Given the description of an element on the screen output the (x, y) to click on. 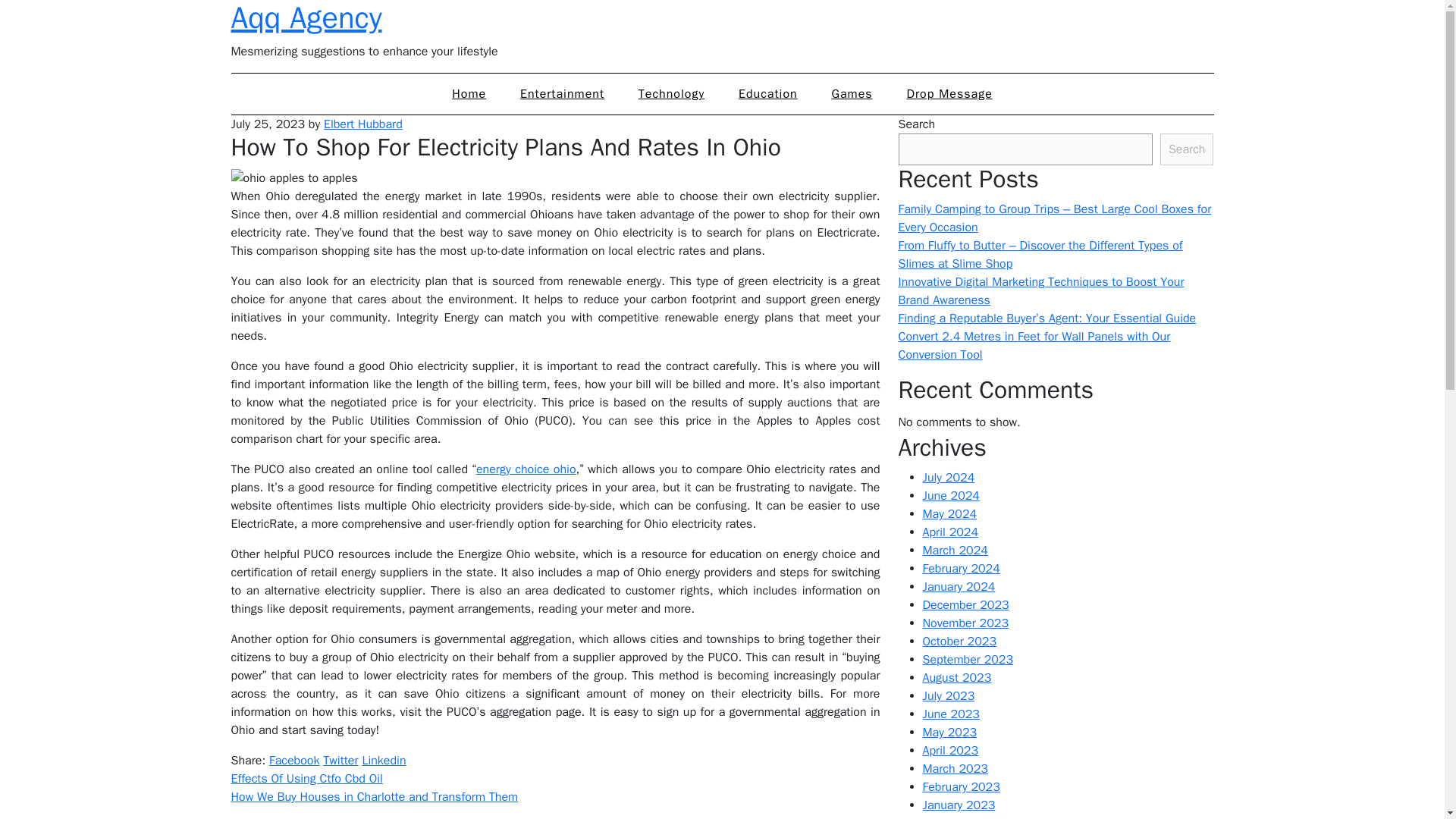
Elbert Hubbard (363, 124)
August 2023 (956, 677)
March 2023 (954, 768)
July 2023 (947, 695)
May 2024 (948, 513)
December 2023 (965, 604)
March 2024 (954, 549)
Posts by Elbert Hubbard (363, 124)
Twitter (340, 760)
January 2024 (957, 586)
How We Buy Houses in Charlotte and Transform Them (374, 796)
Home (468, 93)
Effects Of Using Ctfo Cbd Oil (305, 778)
February 2024 (959, 568)
